Given the description of an element on the screen output the (x, y) to click on. 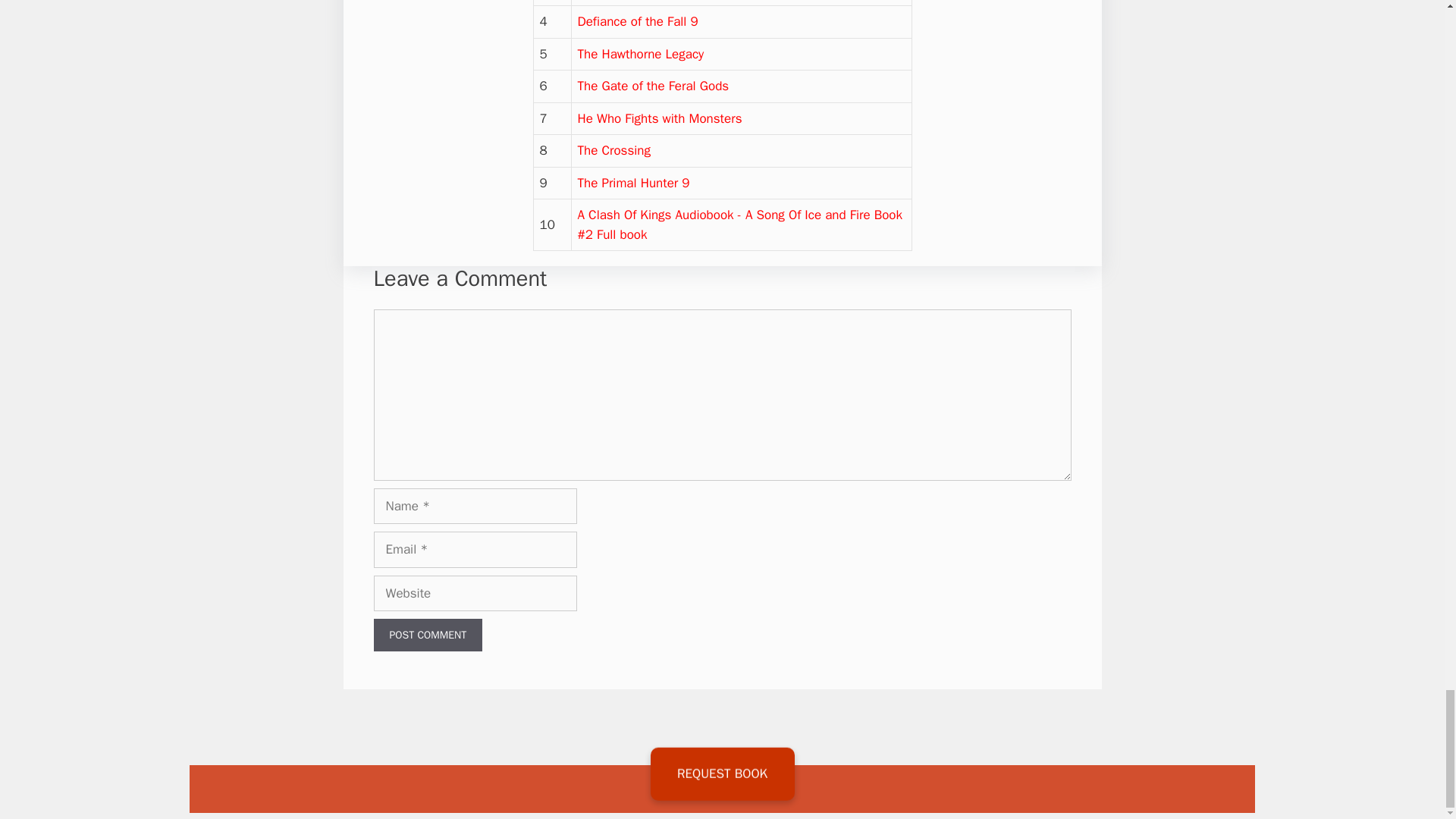
Post Comment (426, 635)
